Given the description of an element on the screen output the (x, y) to click on. 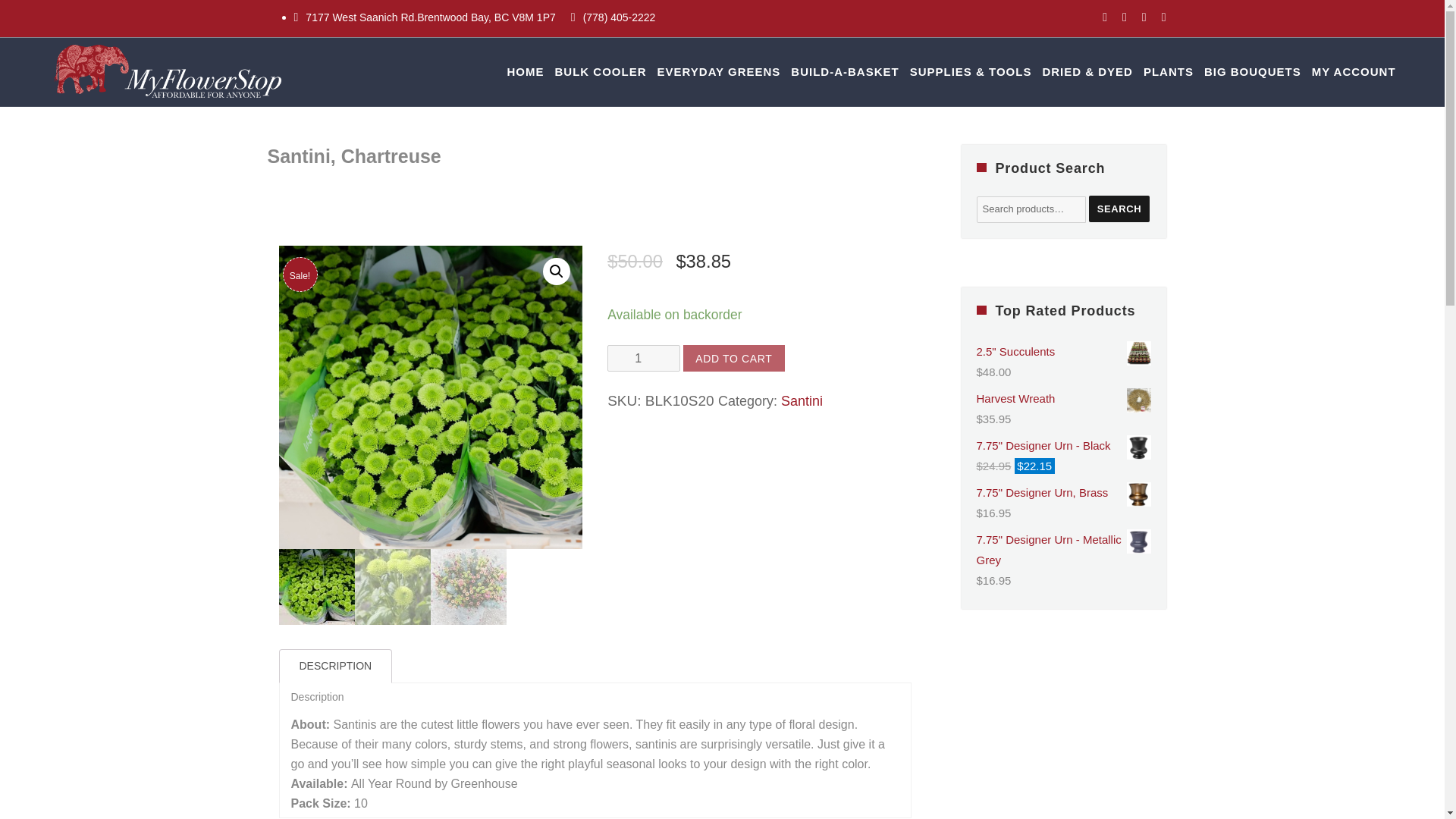
Santini (801, 400)
BULK COOLER (599, 71)
MY ACCOUNT (1353, 71)
BIG BOUQUETS (1252, 71)
EVERYDAY GREENS (719, 71)
7177 West Saanich Rd.Brentwood Bay, BC V8M 1P7 (426, 17)
1 (643, 357)
BUILD-A-BASKET (845, 71)
DESCRIPTION (334, 666)
ADD TO CART (733, 357)
